Given the description of an element on the screen output the (x, y) to click on. 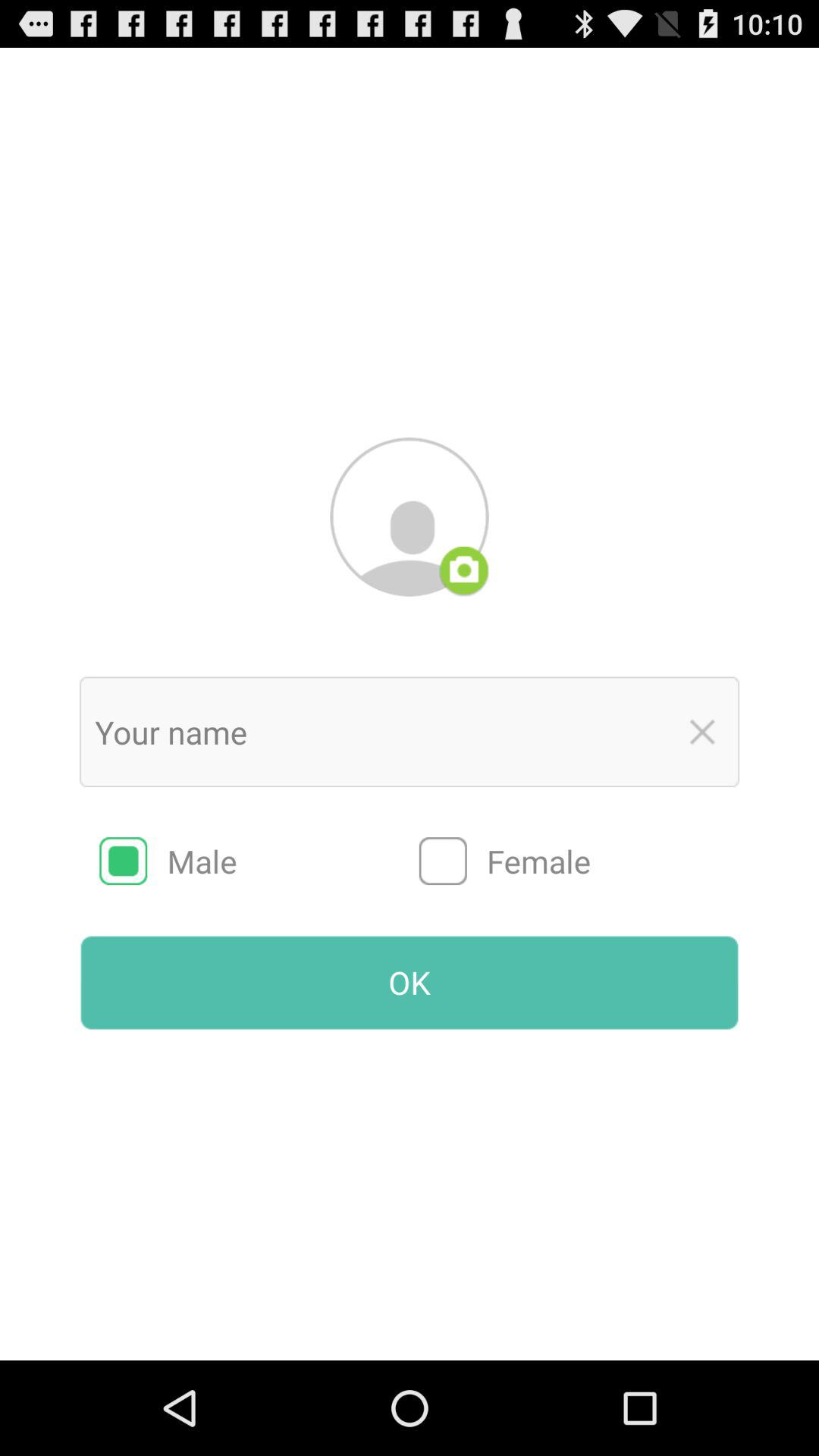
turn on radio button to the left of female (259, 860)
